Given the description of an element on the screen output the (x, y) to click on. 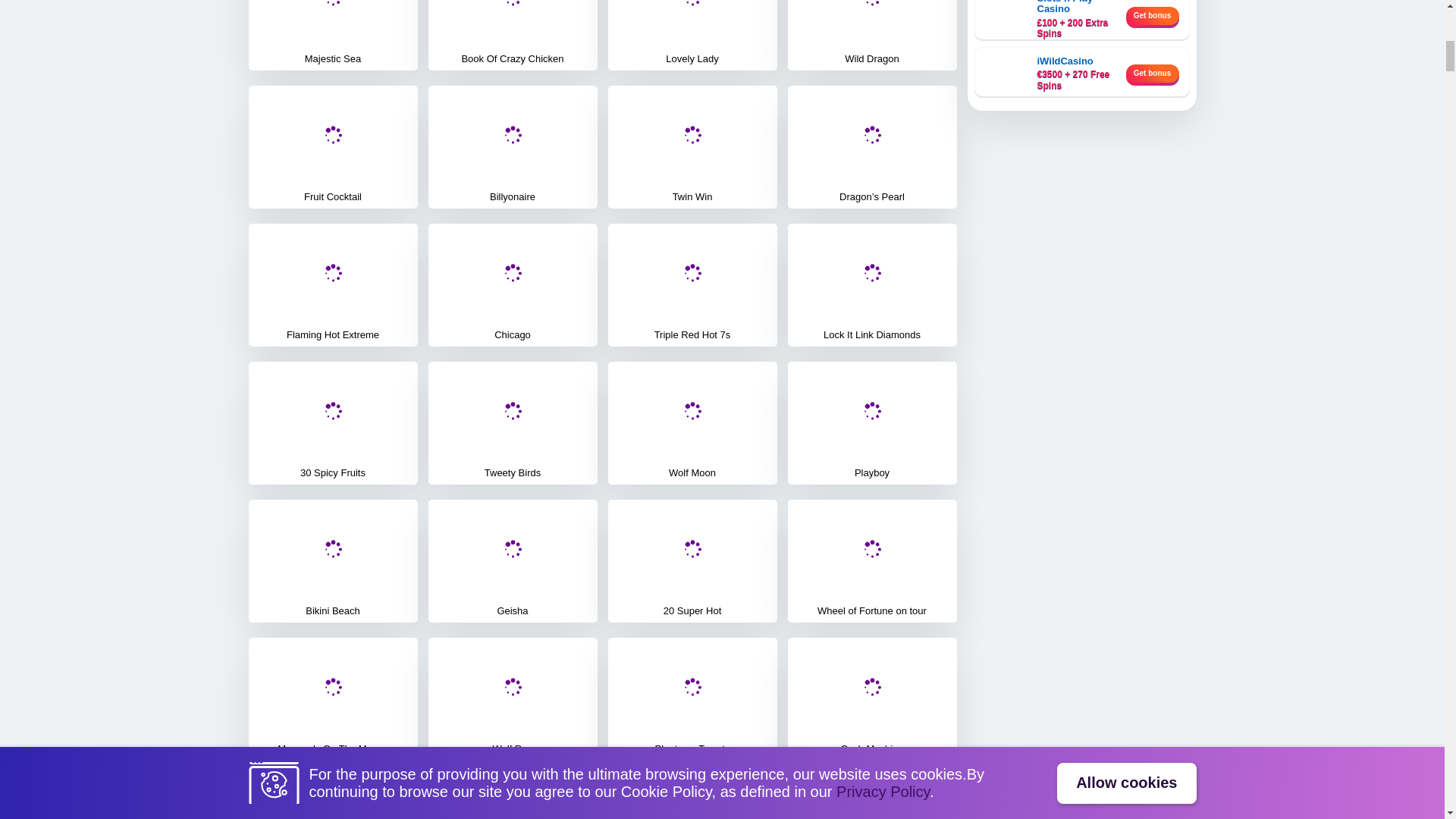
play Wild Dragon slot machine (872, 34)
play Fruit Cocktail slot machine (332, 147)
play Twin Win slot machine (692, 147)
play Chicago slot machine (512, 284)
play Billyonaire slot machine (512, 147)
play Lovely Lady slot machine (692, 34)
play Flaming Hot Extreme slot machine (332, 284)
play Book Of Crazy Chicken slot machine (512, 34)
play Majestic Sea slot machine (332, 34)
